Given the description of an element on the screen output the (x, y) to click on. 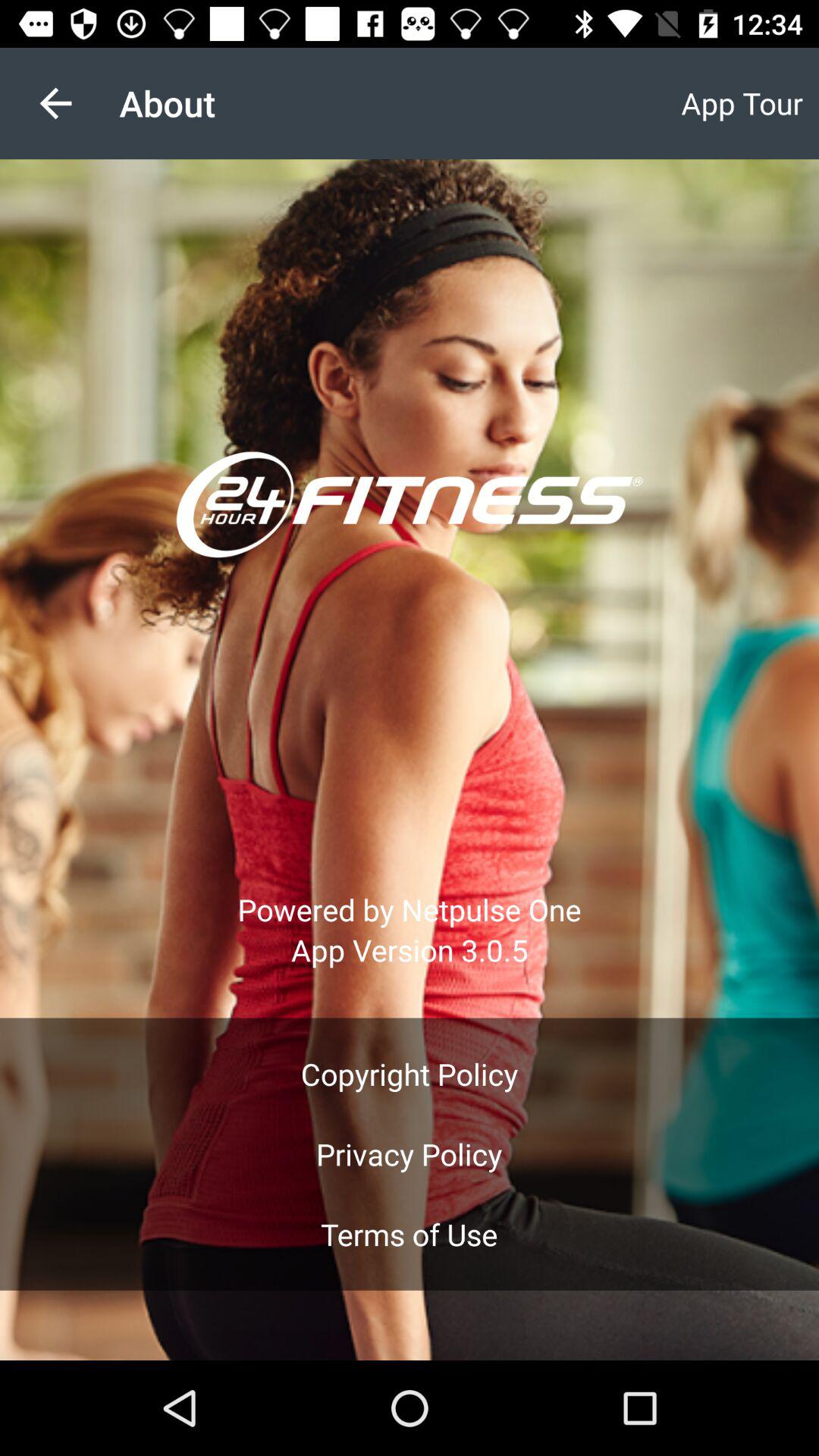
launch item above terms of use icon (409, 1154)
